Given the description of an element on the screen output the (x, y) to click on. 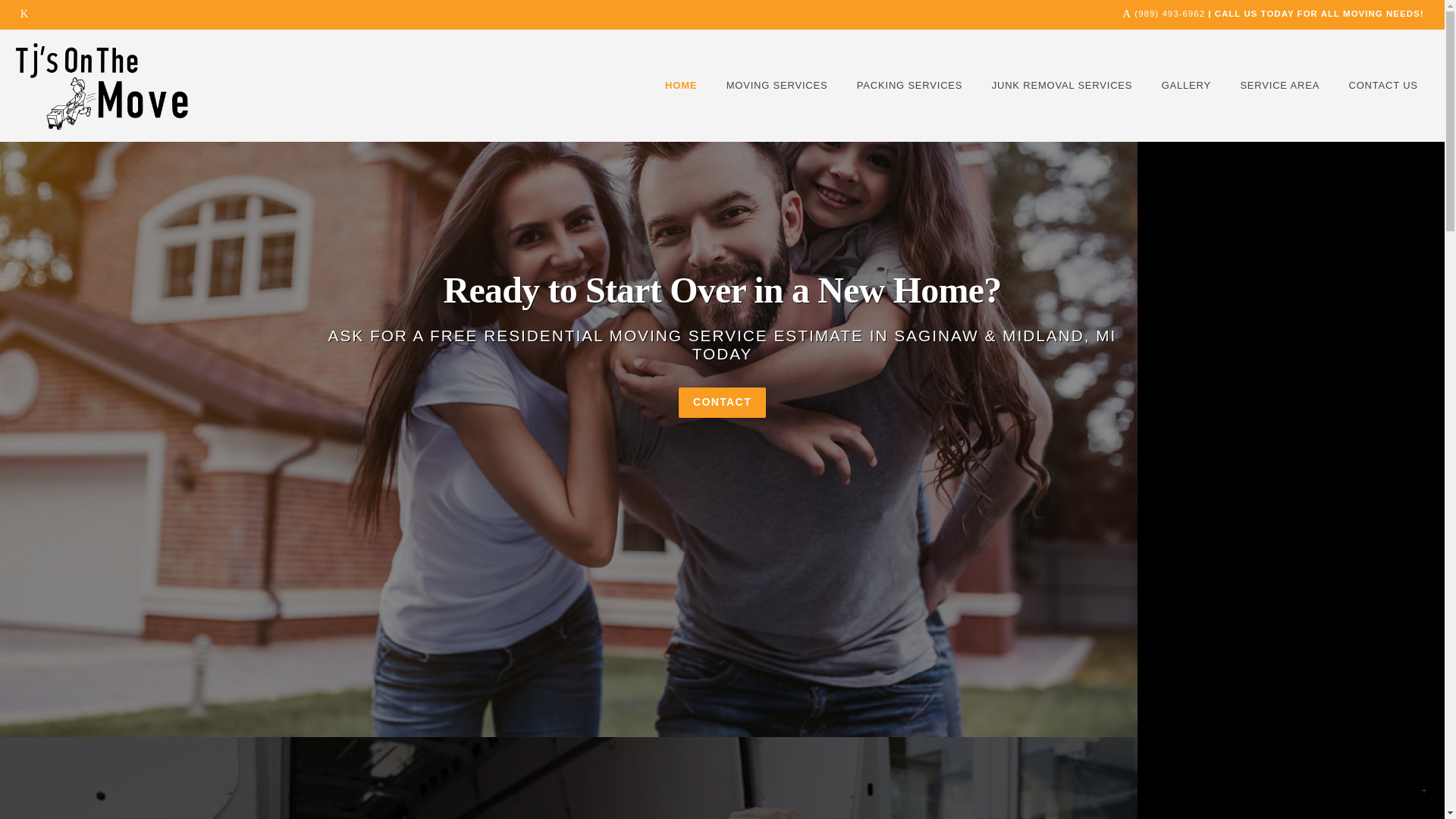
GALLERY (1186, 85)
CONTACT US (1382, 85)
PACKING SERVICES (909, 85)
SERVICE AREA (1278, 85)
MOVING SERVICES (777, 85)
HOME (681, 85)
Facebook (23, 13)
JUNK REMOVAL SERVICES (1061, 85)
TJs On The Move (100, 86)
